Given the description of an element on the screen output the (x, y) to click on. 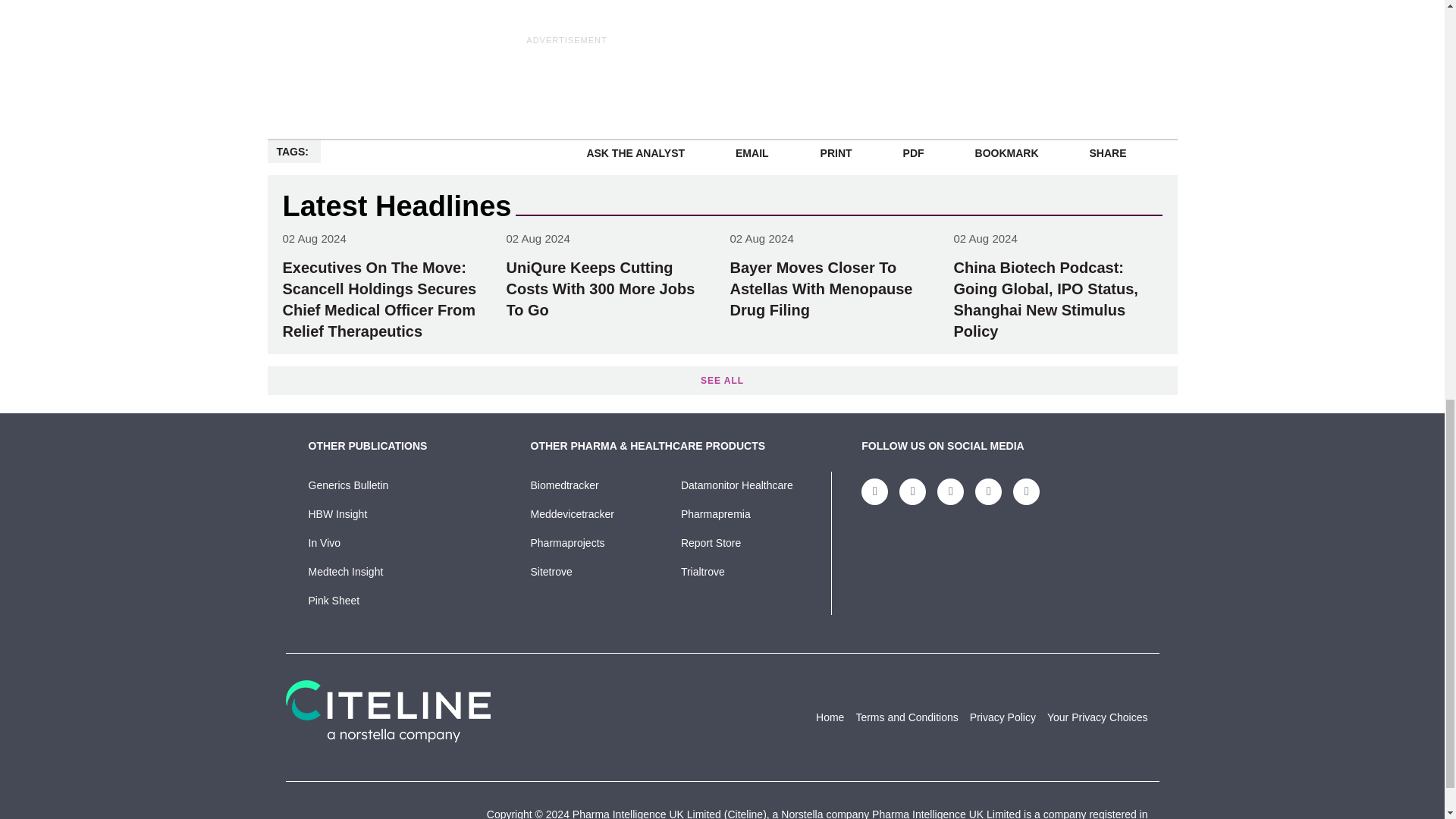
3rd party ad content (1070, 22)
3rd party ad content (567, 81)
